Given the description of an element on the screen output the (x, y) to click on. 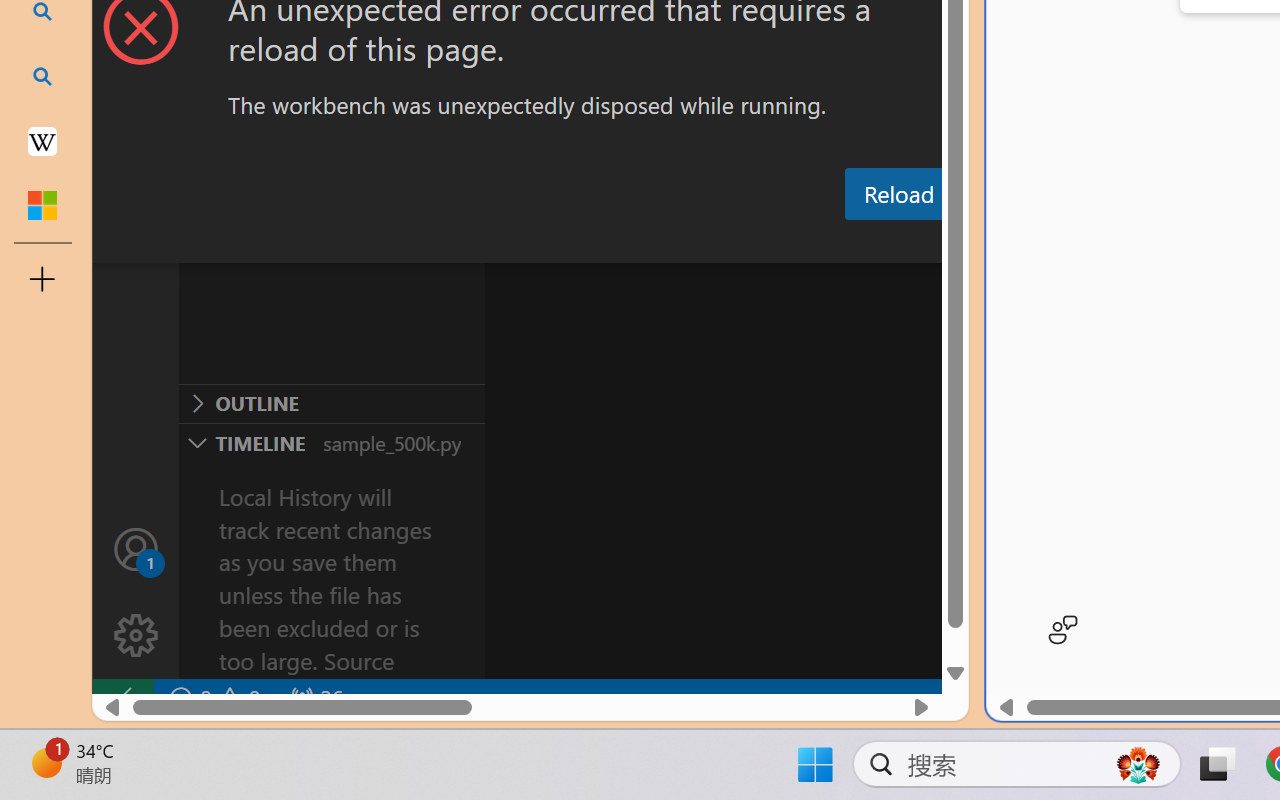
Earth - Wikipedia (42, 140)
Outline Section (331, 403)
remote (122, 698)
Accounts - Sign in requested (135, 548)
Timeline Section (331, 442)
Debug Console (Ctrl+Shift+Y) (854, 243)
Manage (135, 591)
No Problems (212, 698)
